Given the description of an element on the screen output the (x, y) to click on. 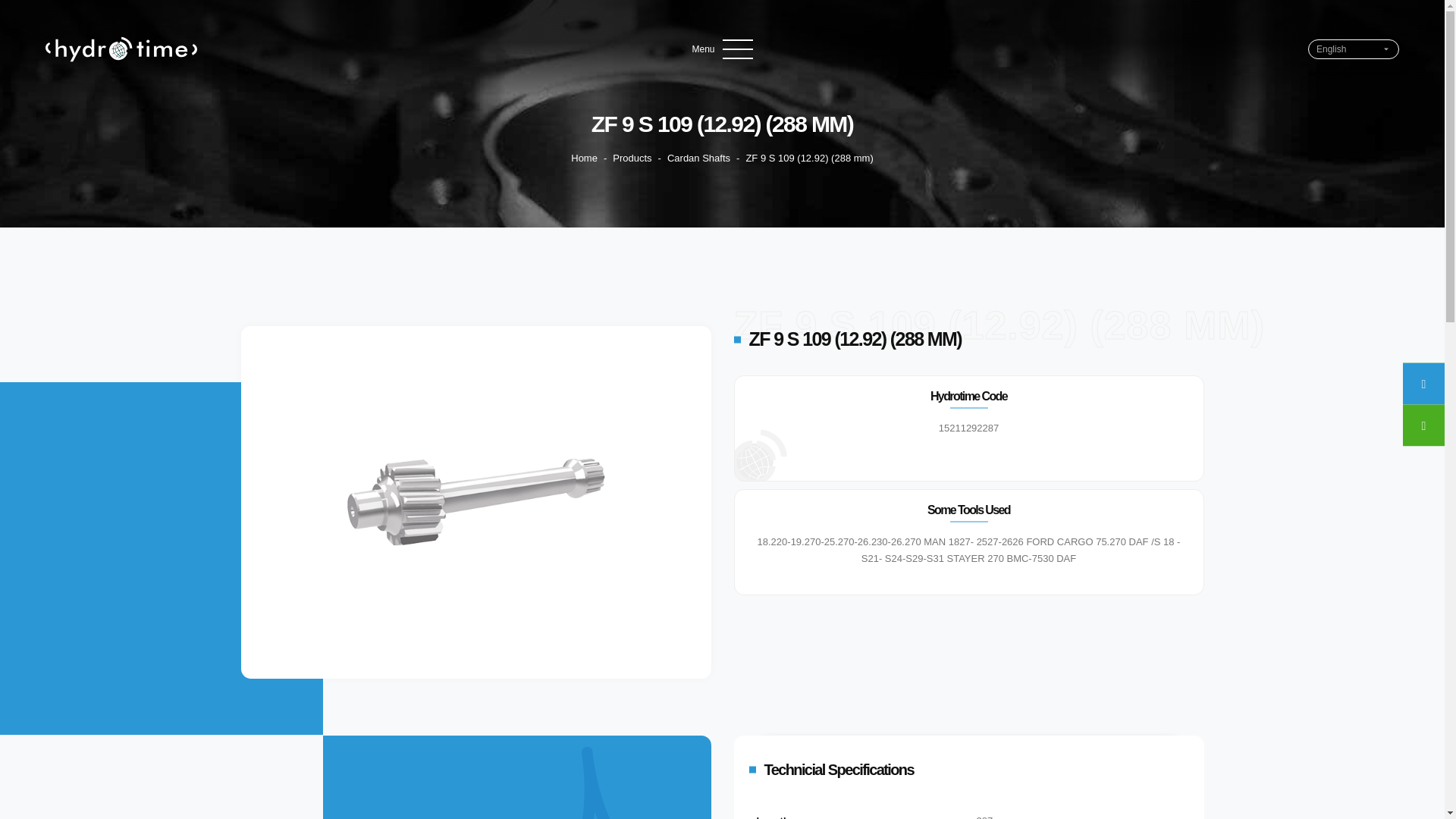
Products (631, 157)
Home (583, 157)
Cardan Shafts (698, 157)
English (1346, 49)
